Given the description of an element on the screen output the (x, y) to click on. 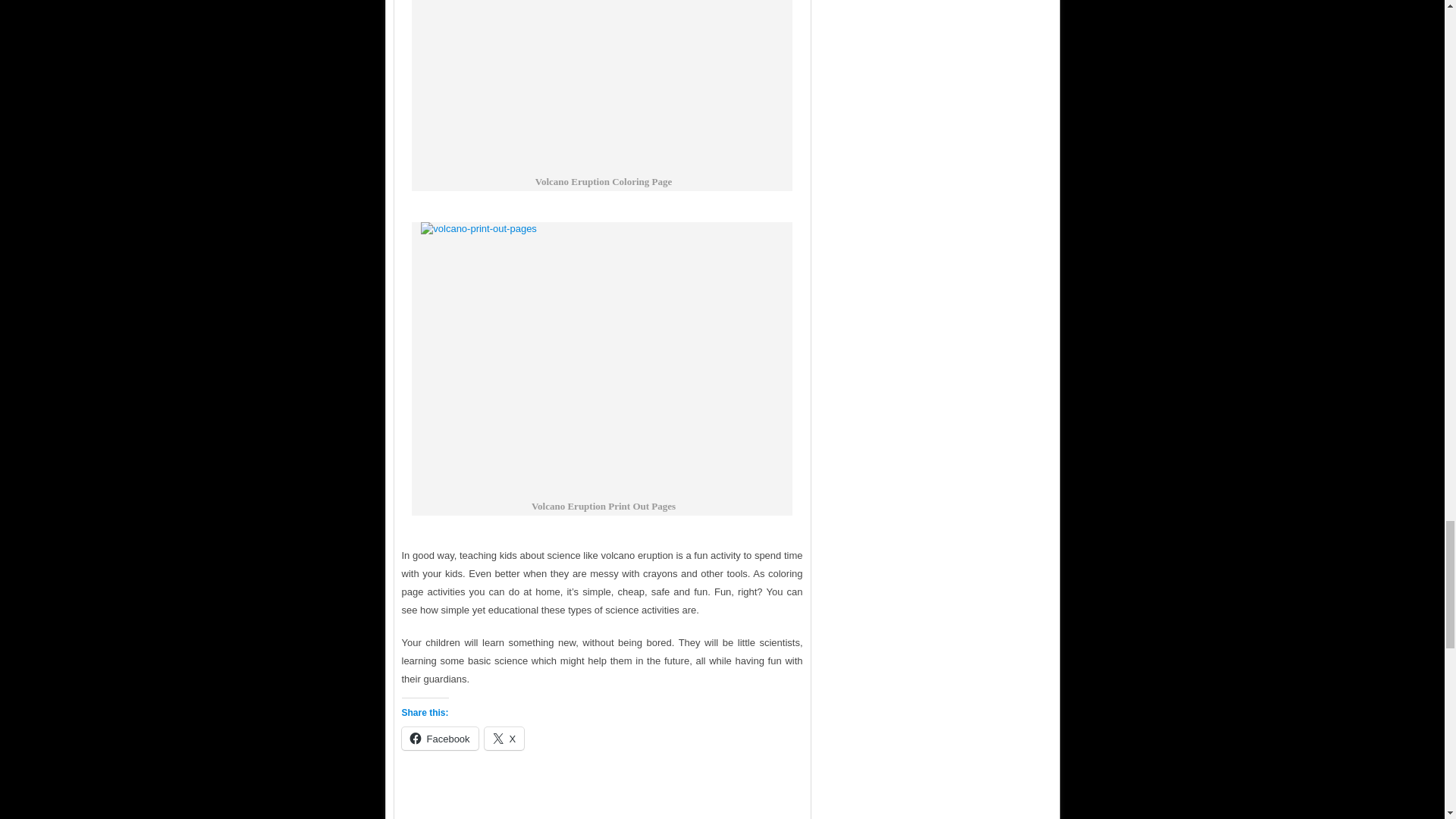
Click to share on X (504, 738)
Facebook (440, 738)
Click to share on Facebook (440, 738)
X (504, 738)
